Given the description of an element on the screen output the (x, y) to click on. 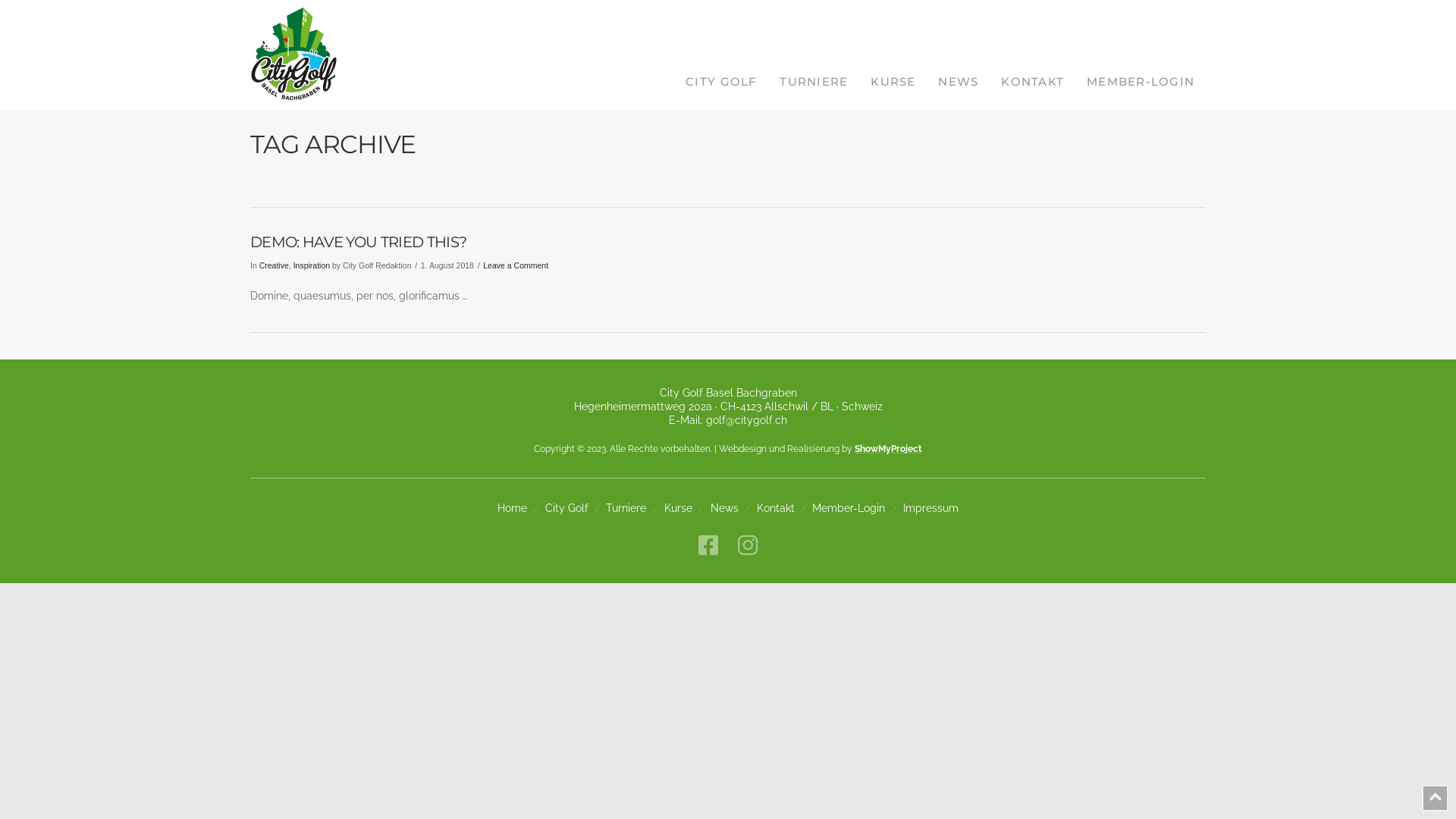
Creative Element type: text (273, 264)
City Golf Element type: text (566, 507)
KONTAKT Element type: text (1032, 54)
Kurse Element type: text (678, 507)
Instagram Element type: hover (747, 544)
Facebook Element type: hover (708, 544)
Kontakt Element type: text (775, 507)
NEWS Element type: text (957, 54)
Member-Login Element type: text (848, 507)
Home Element type: text (512, 507)
Leave a Comment Element type: text (515, 264)
Impressum Element type: text (930, 507)
KURSE Element type: text (892, 54)
MEMBER-LOGIN Element type: text (1140, 54)
Turniere Element type: text (625, 507)
News Element type: text (724, 507)
ShowMyProject Element type: text (888, 448)
TURNIERE Element type: text (813, 54)
CITY GOLF Element type: text (720, 54)
DEMO: HAVE YOU TRIED THIS? Element type: text (358, 241)
golf@citygolf.ch Element type: text (746, 420)
Inspiration Element type: text (311, 264)
Back to Top Element type: hover (1434, 797)
